Given the description of an element on the screen output the (x, y) to click on. 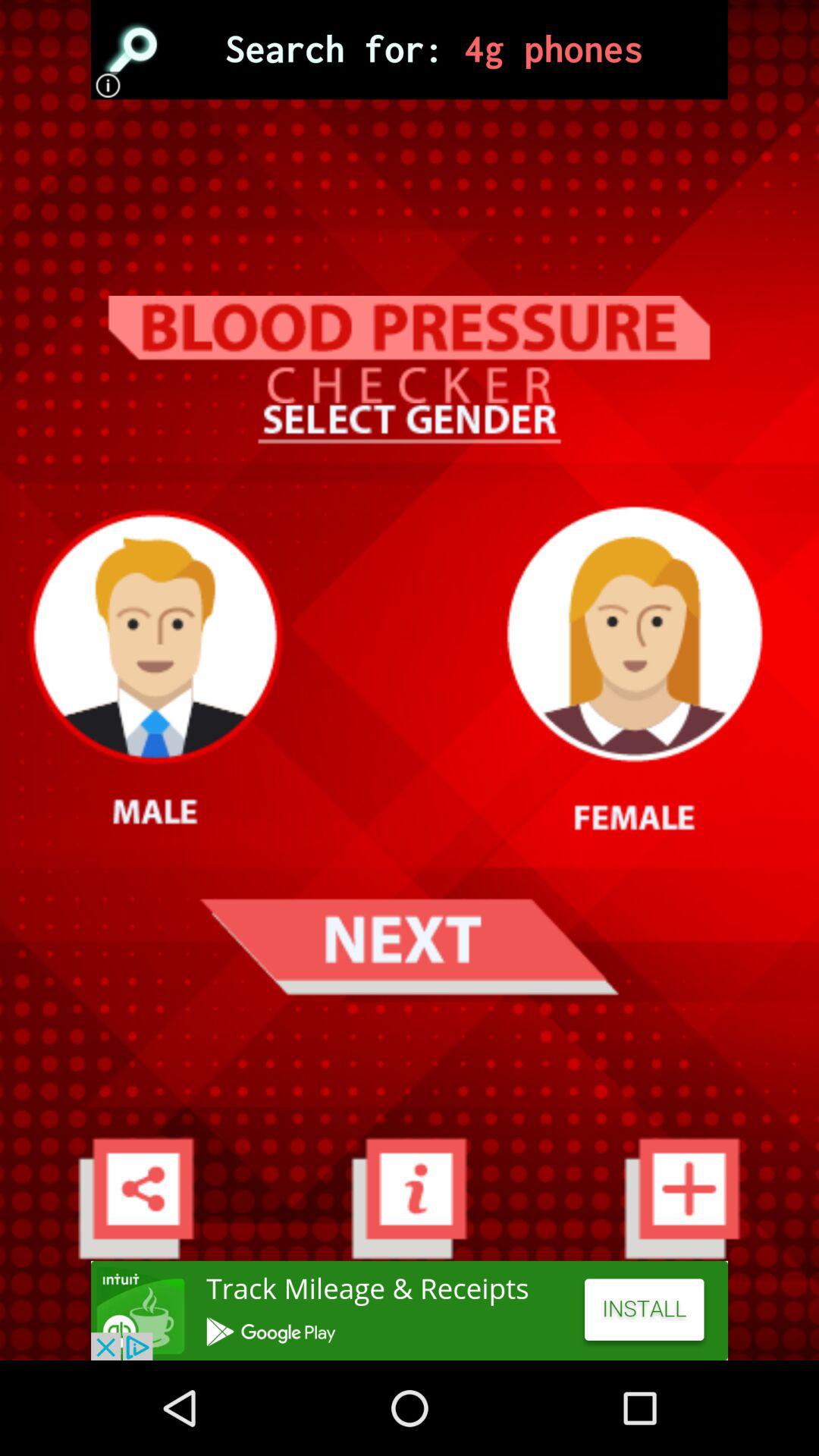
for next (409, 946)
